Given the description of an element on the screen output the (x, y) to click on. 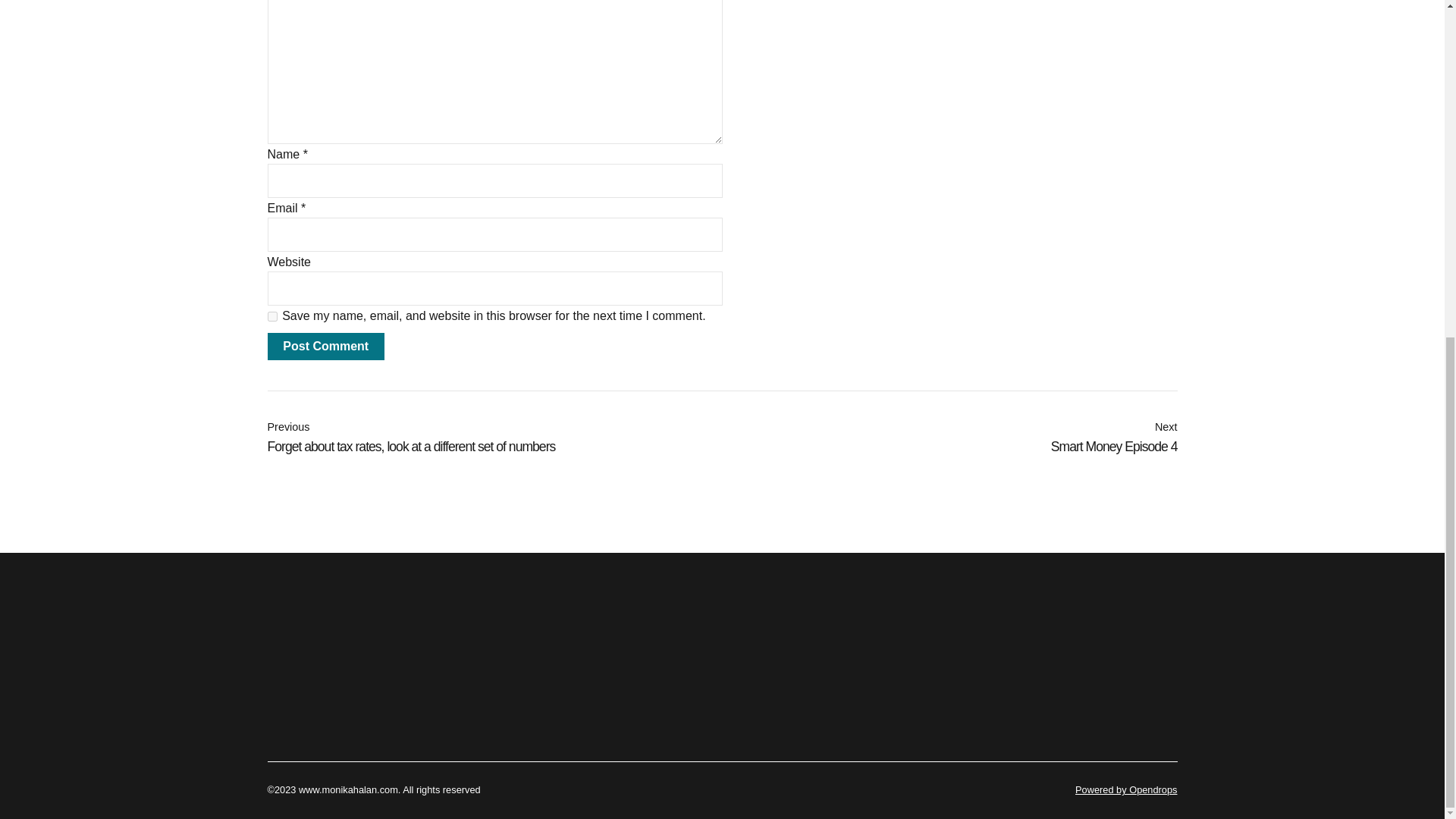
yes (949, 438)
Post Comment (271, 316)
